Given the description of an element on the screen output the (x, y) to click on. 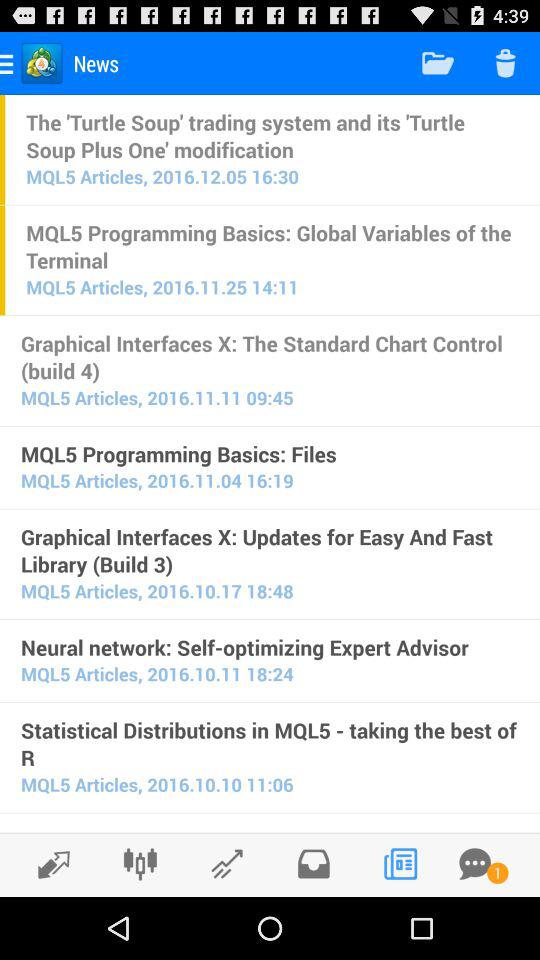
launch the statistical distributions in item (270, 743)
